Given the description of an element on the screen output the (x, y) to click on. 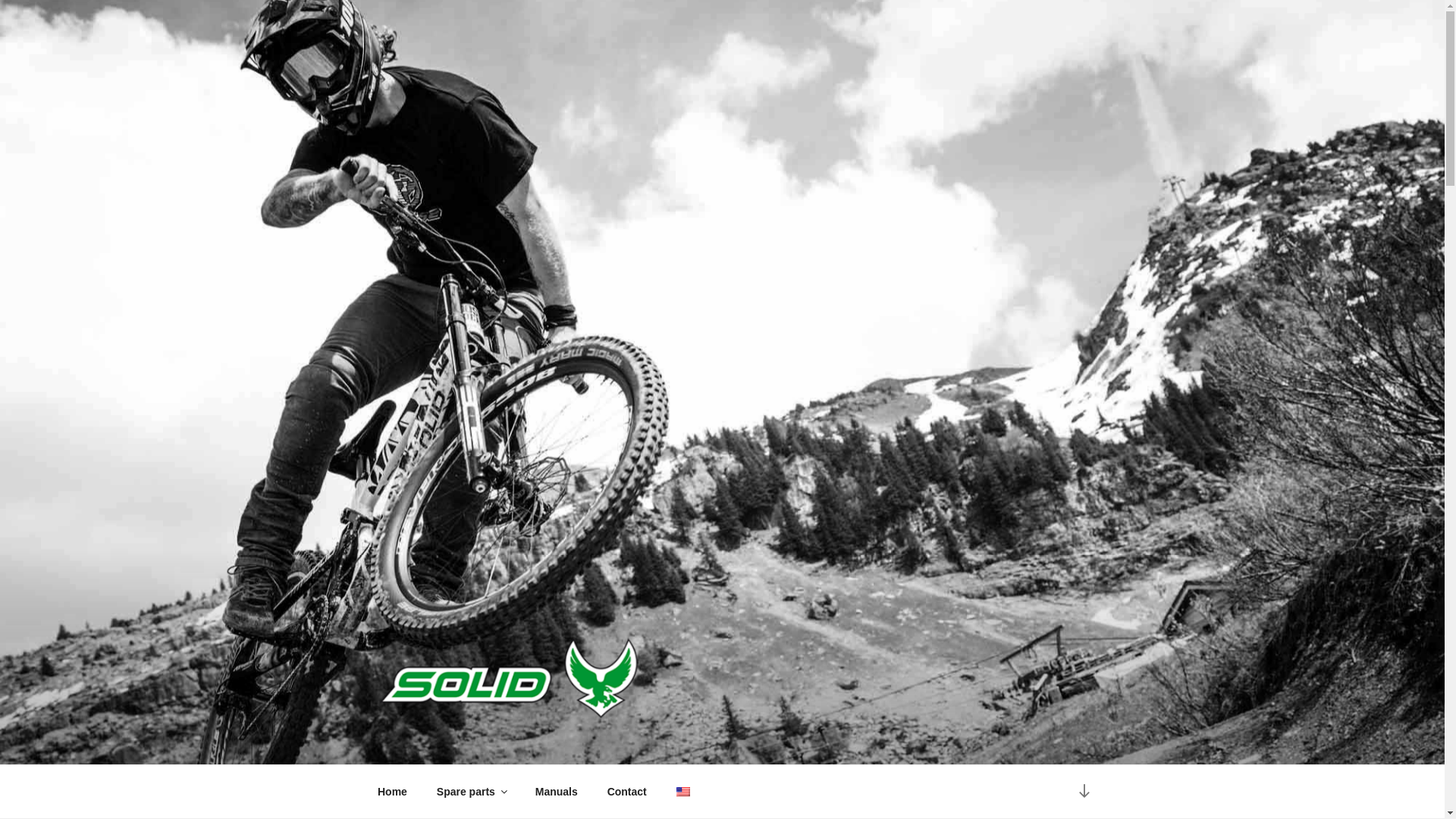
Scroll down to content (1082, 791)
Manuals (556, 791)
SOLIDBIKES EUROPE (542, 742)
Contact (626, 791)
Scroll down to content (1082, 791)
Home (392, 791)
Spare parts (470, 791)
